Given the description of an element on the screen output the (x, y) to click on. 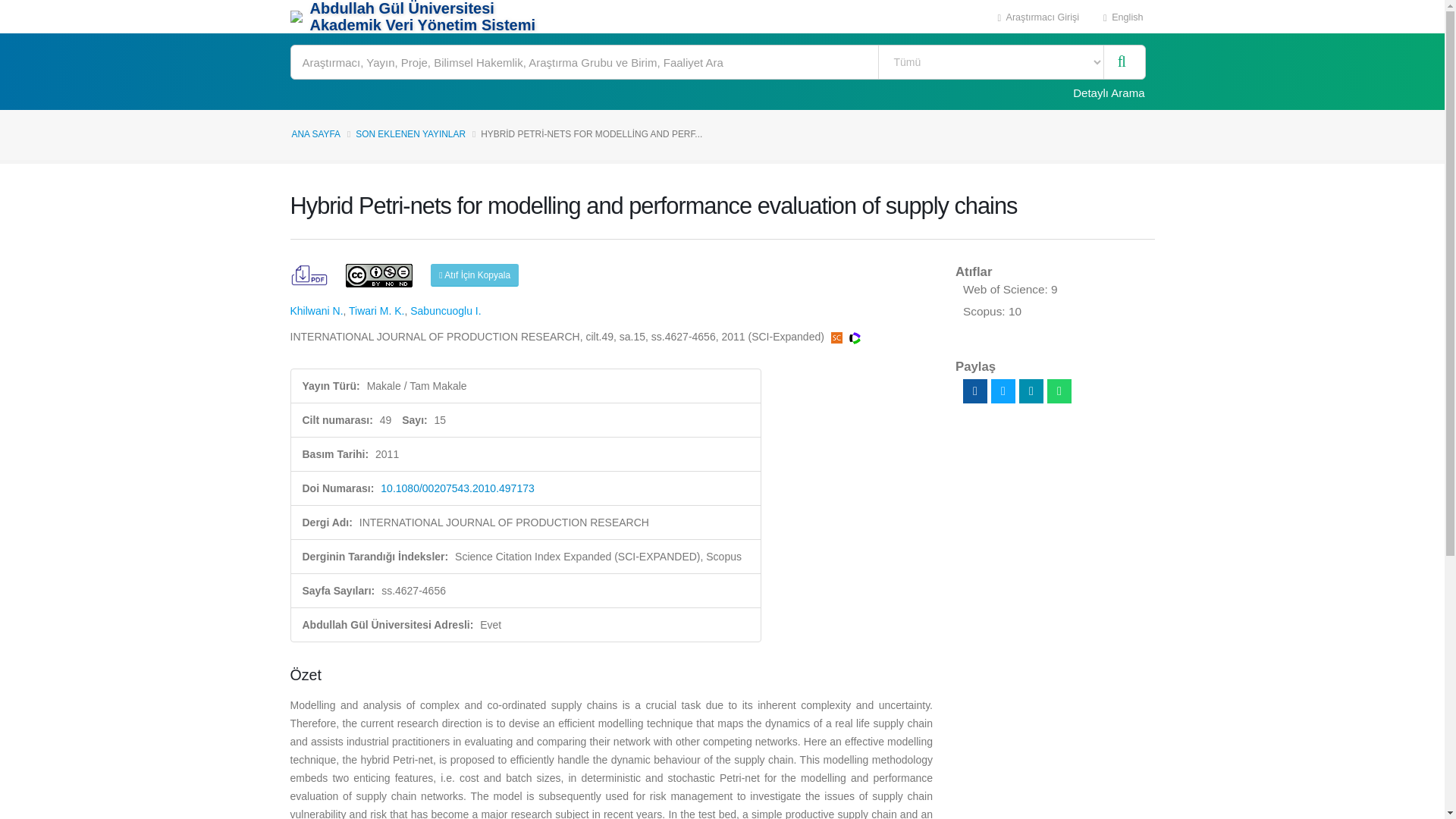
ANA SAYFA (315, 133)
Khilwani N. (315, 310)
M. K. Tiwari (376, 310)
SON EKLENEN YAYINLAR (410, 133)
Tiwari M. K. (376, 310)
English (1123, 17)
Nitesh Khilwani (315, 310)
Sabuncuoglu I. (445, 310)
